Given the description of an element on the screen output the (x, y) to click on. 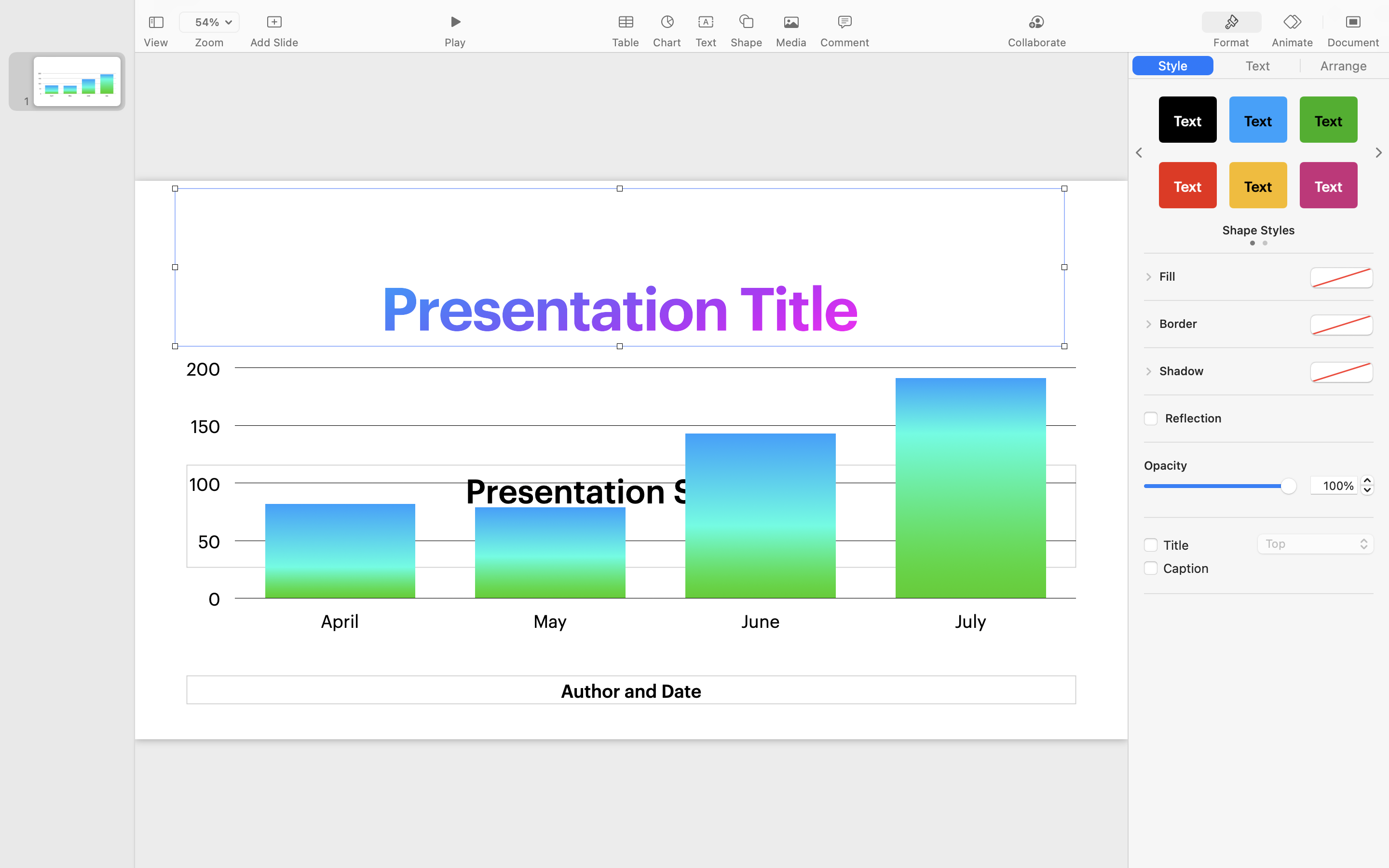
Reflection Element type: AXStaticText (1269, 417)
Top Element type: AXPopUpButton (1315, 545)
1.0 Element type: AXIncrementor (1367, 484)
